Given the description of an element on the screen output the (x, y) to click on. 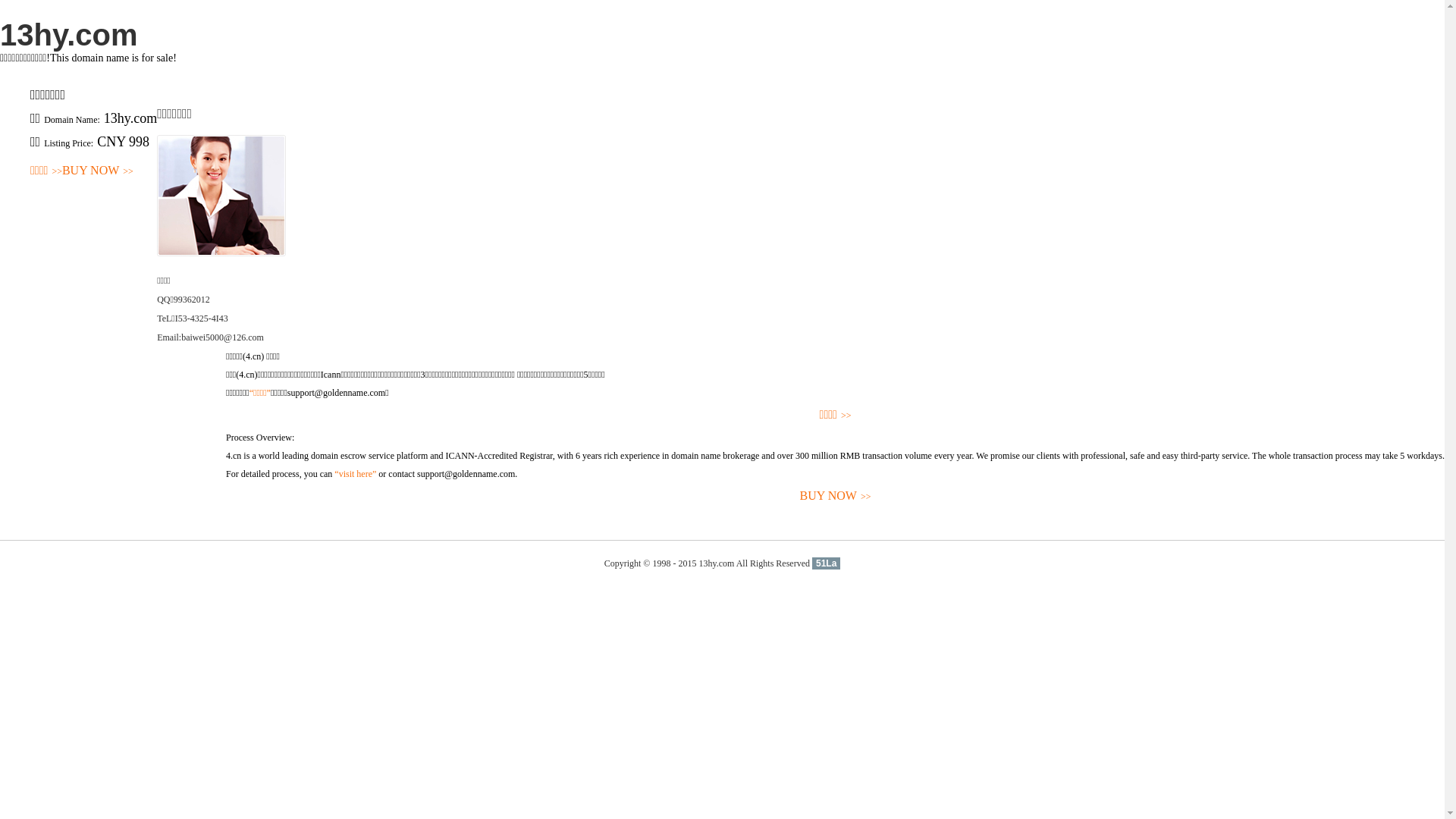
BUY NOW>> Element type: text (834, 496)
51La Element type: text (826, 563)
BUY NOW>> Element type: text (97, 170)
